Given the description of an element on the screen output the (x, y) to click on. 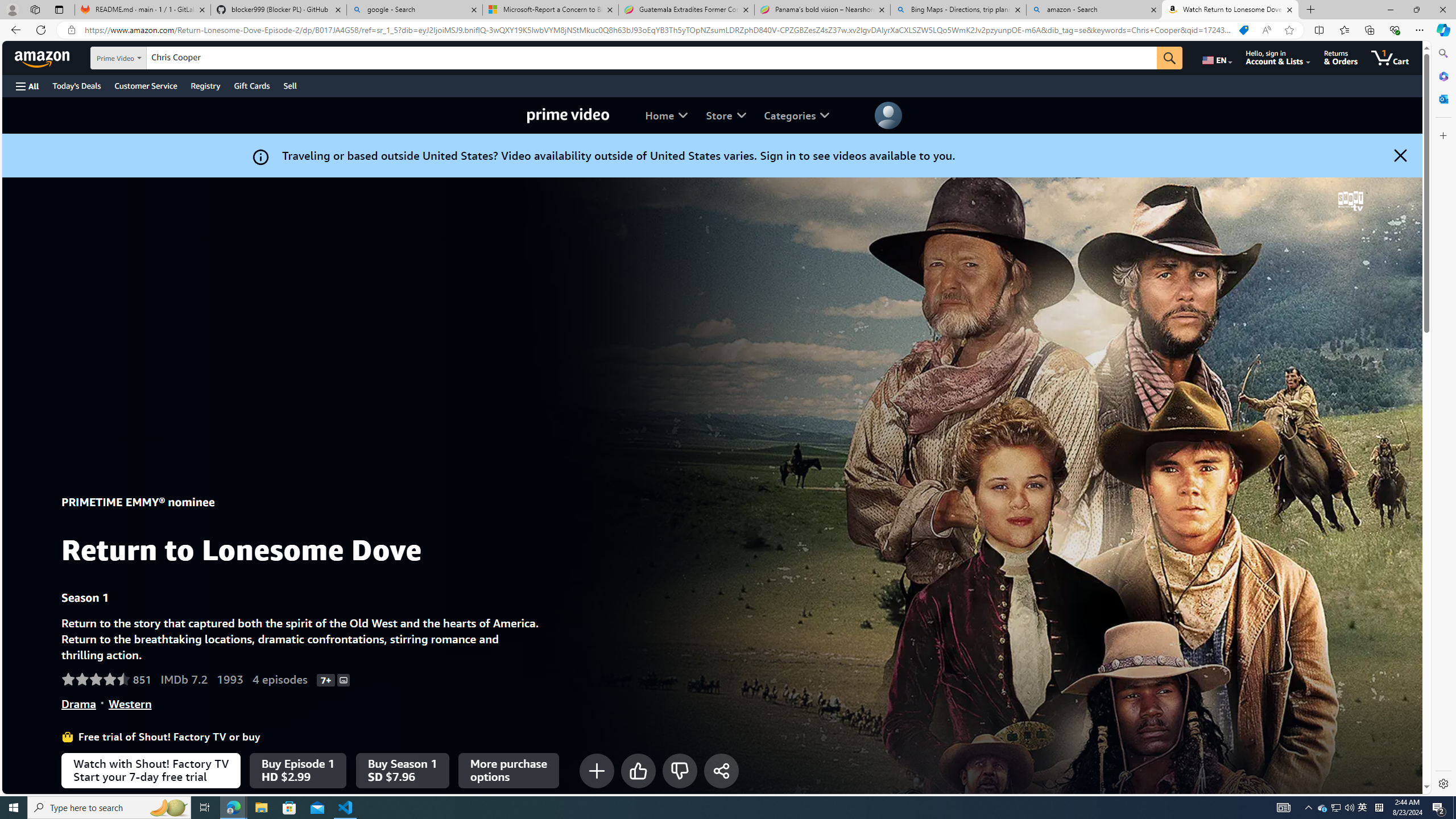
Share (720, 769)
Sell (290, 85)
Categories (796, 115)
Not for me (679, 769)
Gift Cards (251, 85)
More purchase options (508, 769)
Prime Video (567, 115)
Shopping in Microsoft Edge (1243, 29)
